Given the description of an element on the screen output the (x, y) to click on. 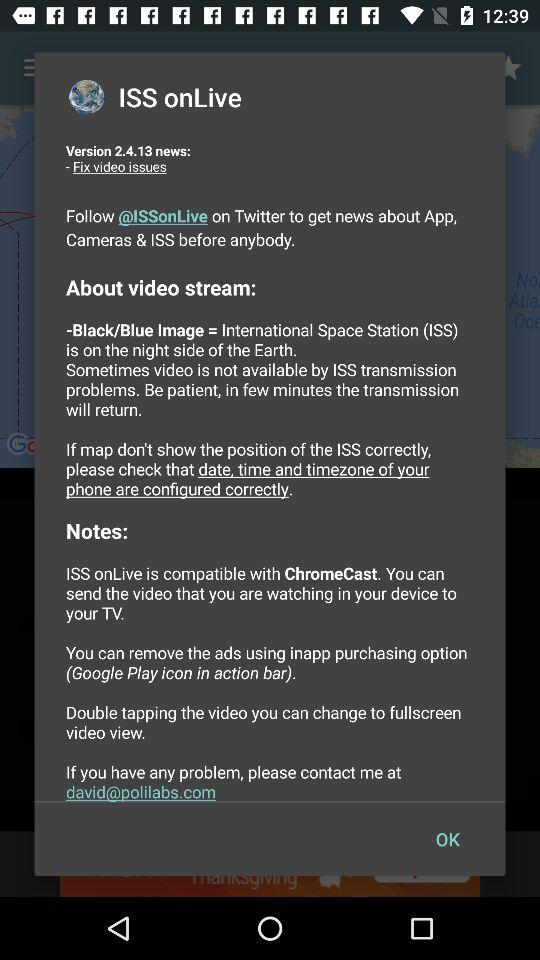
open icon at the bottom right corner (447, 838)
